Given the description of an element on the screen output the (x, y) to click on. 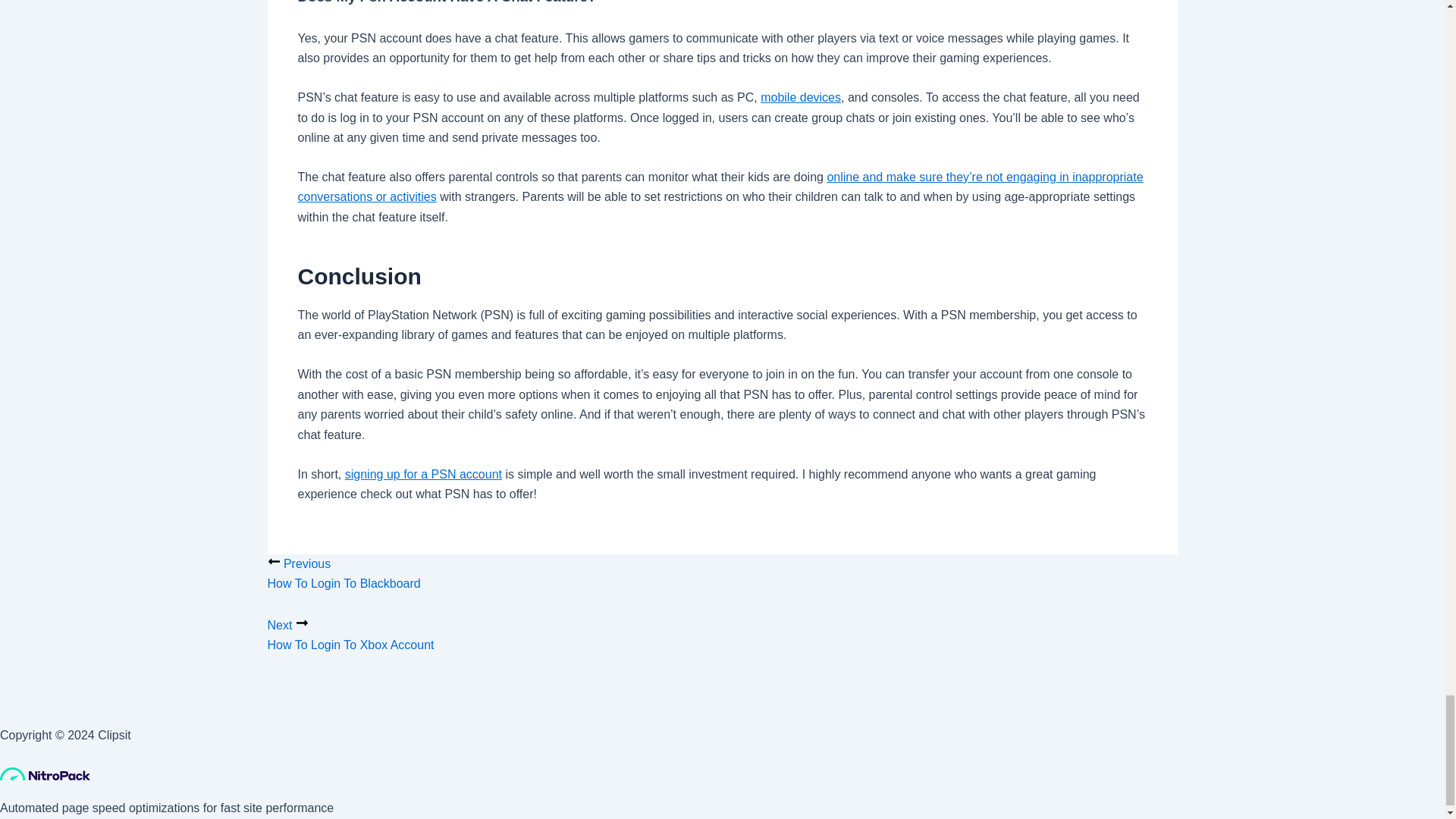
How To Login To Xbox Account (721, 637)
How To Login To Blackboard (721, 575)
